Given the description of an element on the screen output the (x, y) to click on. 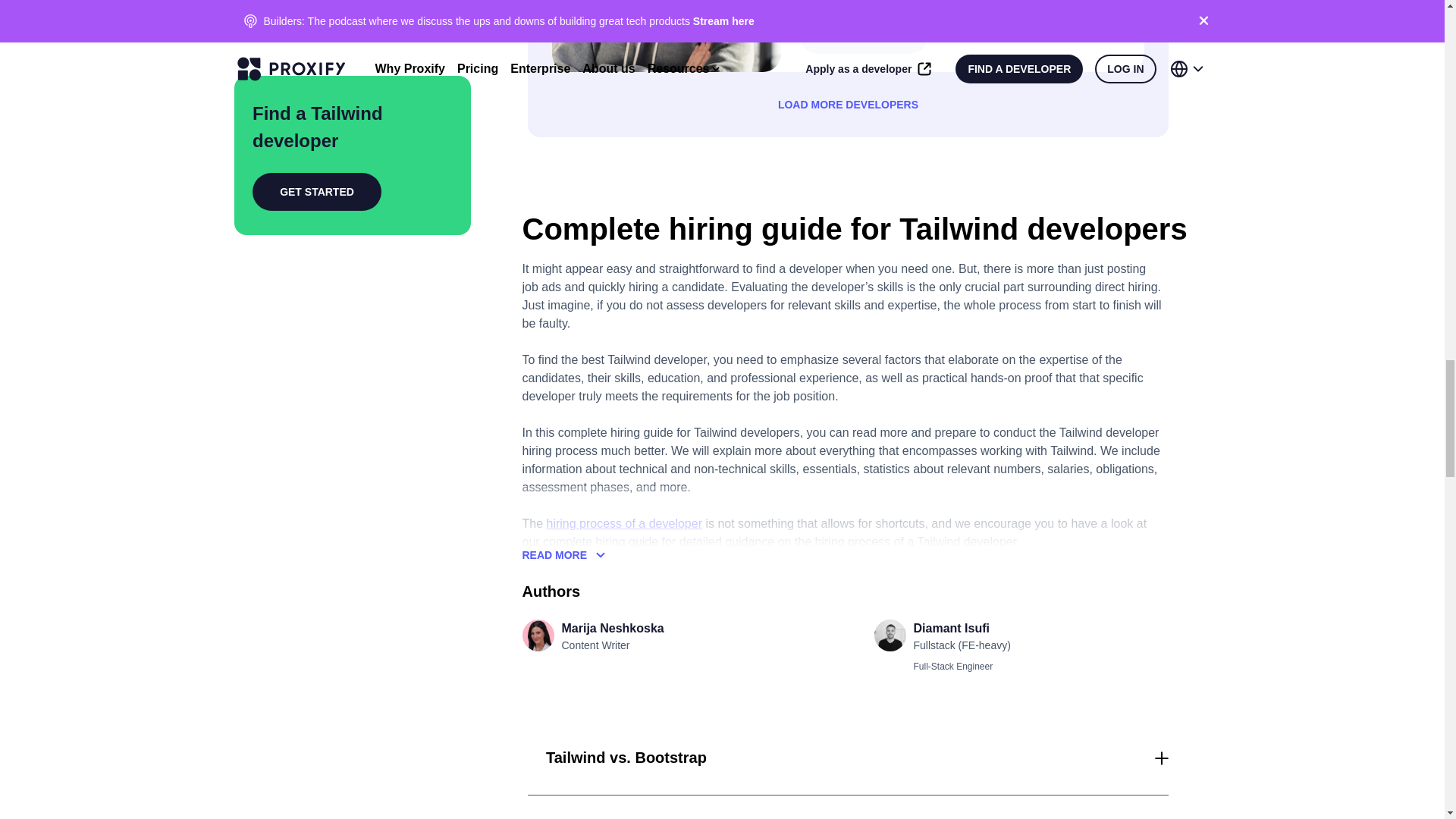
VIEW PROFILE (863, 34)
hiring process of a developer (624, 522)
LOAD MORE DEVELOPERS (847, 104)
